Given the description of an element on the screen output the (x, y) to click on. 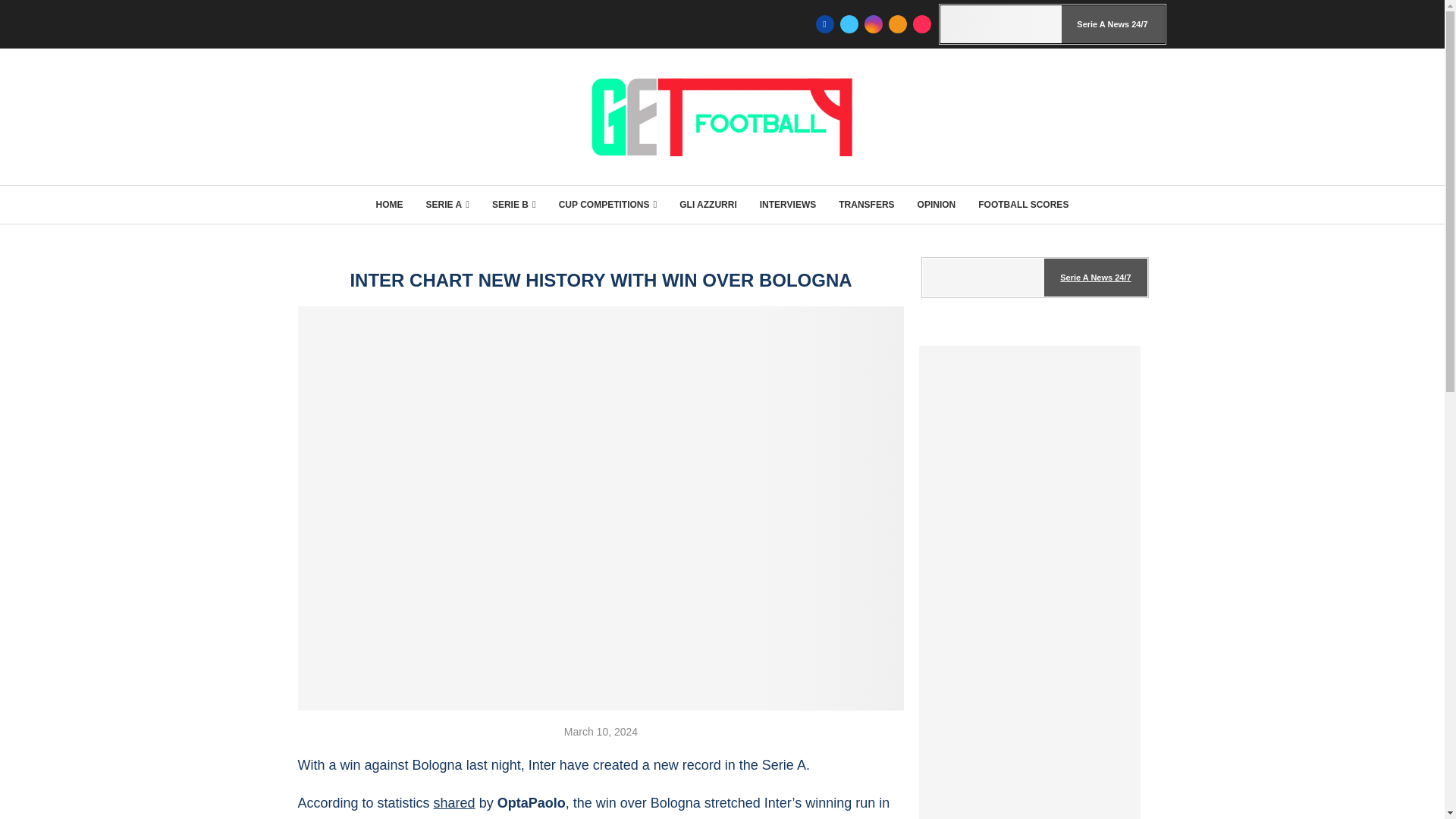
HOME (389, 204)
Click here for more Italian football news from NewsNow (1034, 277)
Click here for more Italian football news from NewsNow (1052, 24)
SERIE B (513, 204)
SERIE A (447, 204)
